Given the description of an element on the screen output the (x, y) to click on. 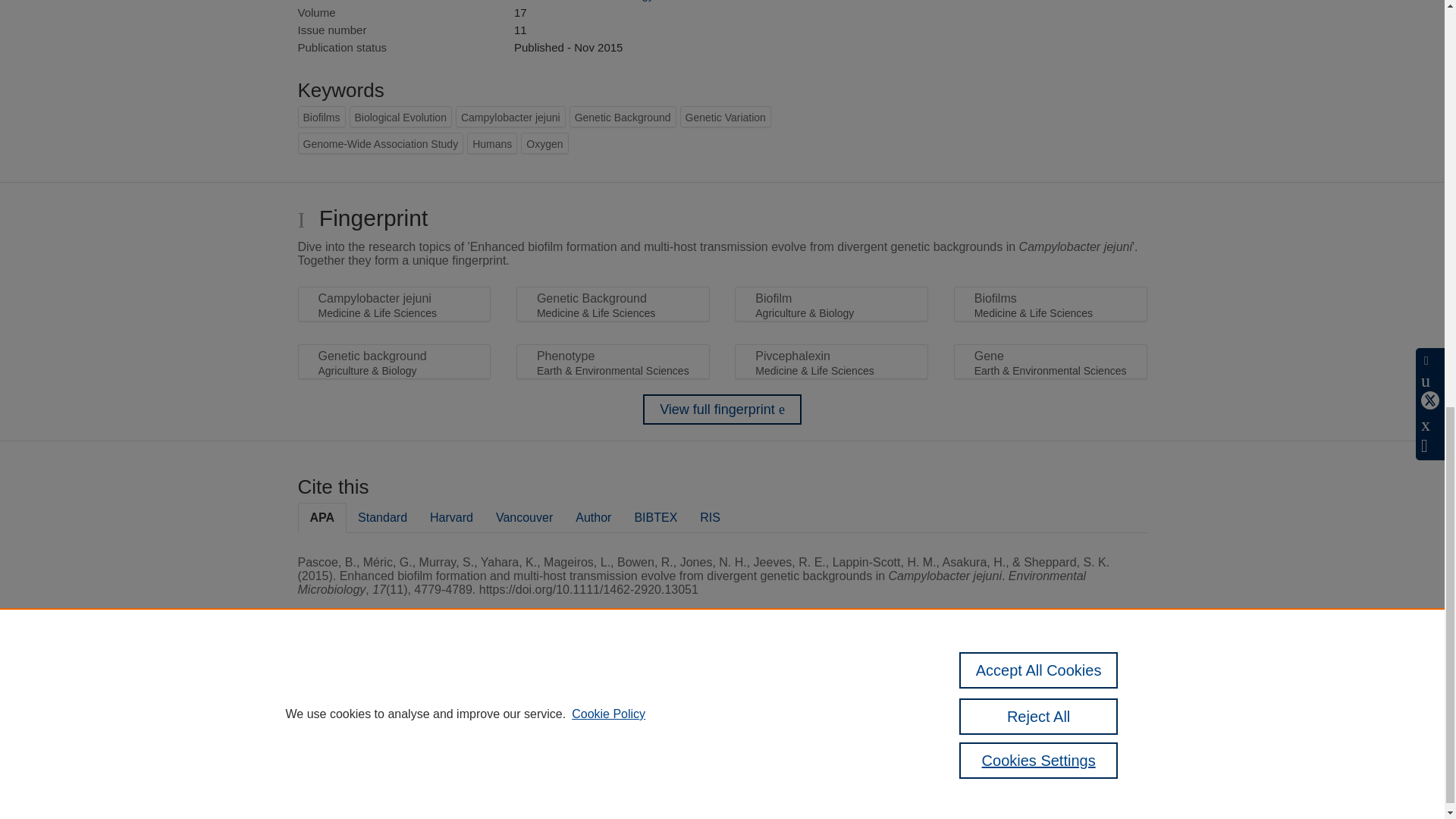
Environmental Microbiology (583, 0)
View full fingerprint (722, 409)
